Given the description of an element on the screen output the (x, y) to click on. 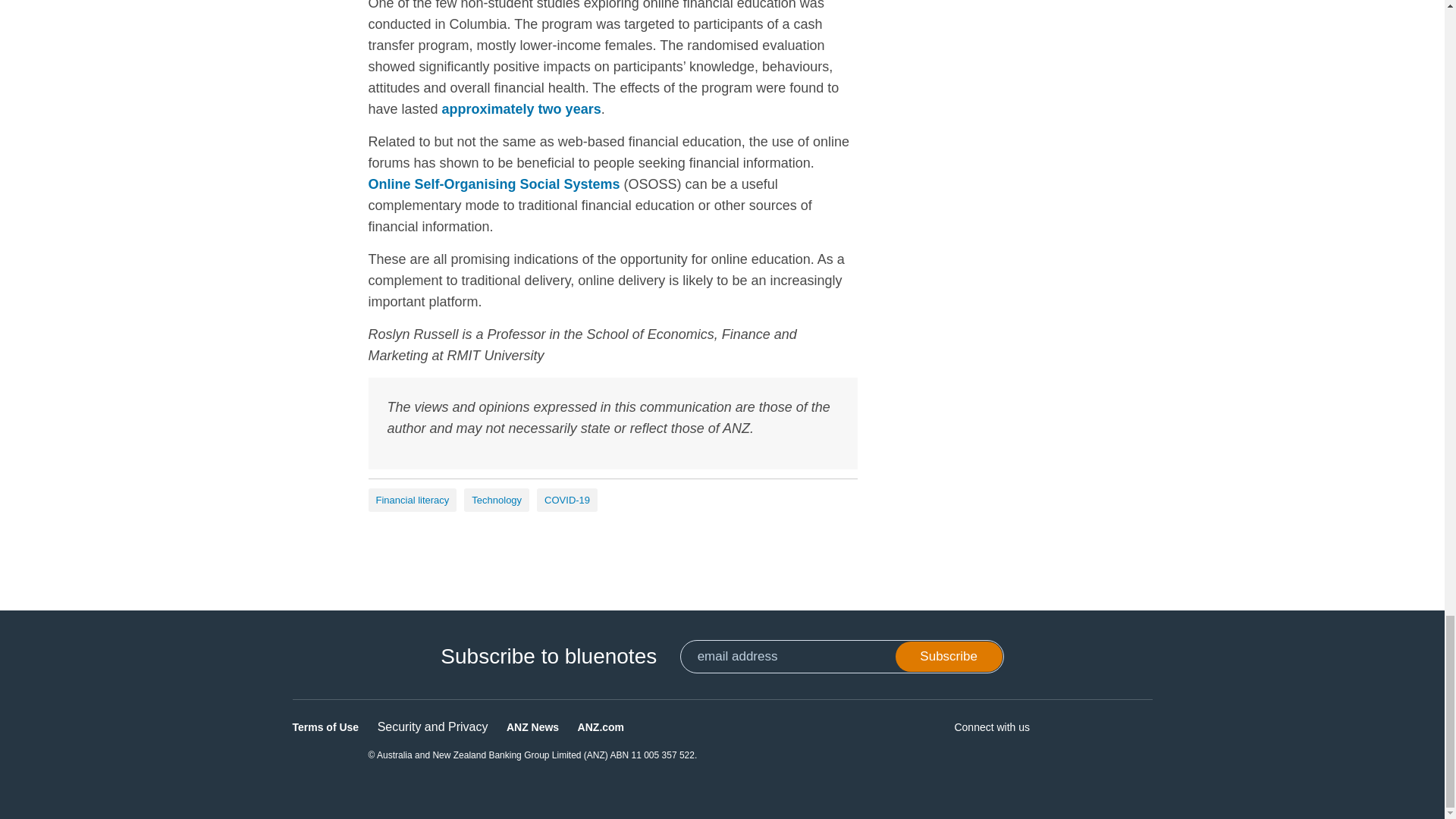
ANZ.com (601, 727)
COVID-19 (566, 499)
Terms of Use (325, 727)
Financial literacy (412, 499)
Technology (496, 499)
ANZ News (532, 727)
